Given the description of an element on the screen output the (x, y) to click on. 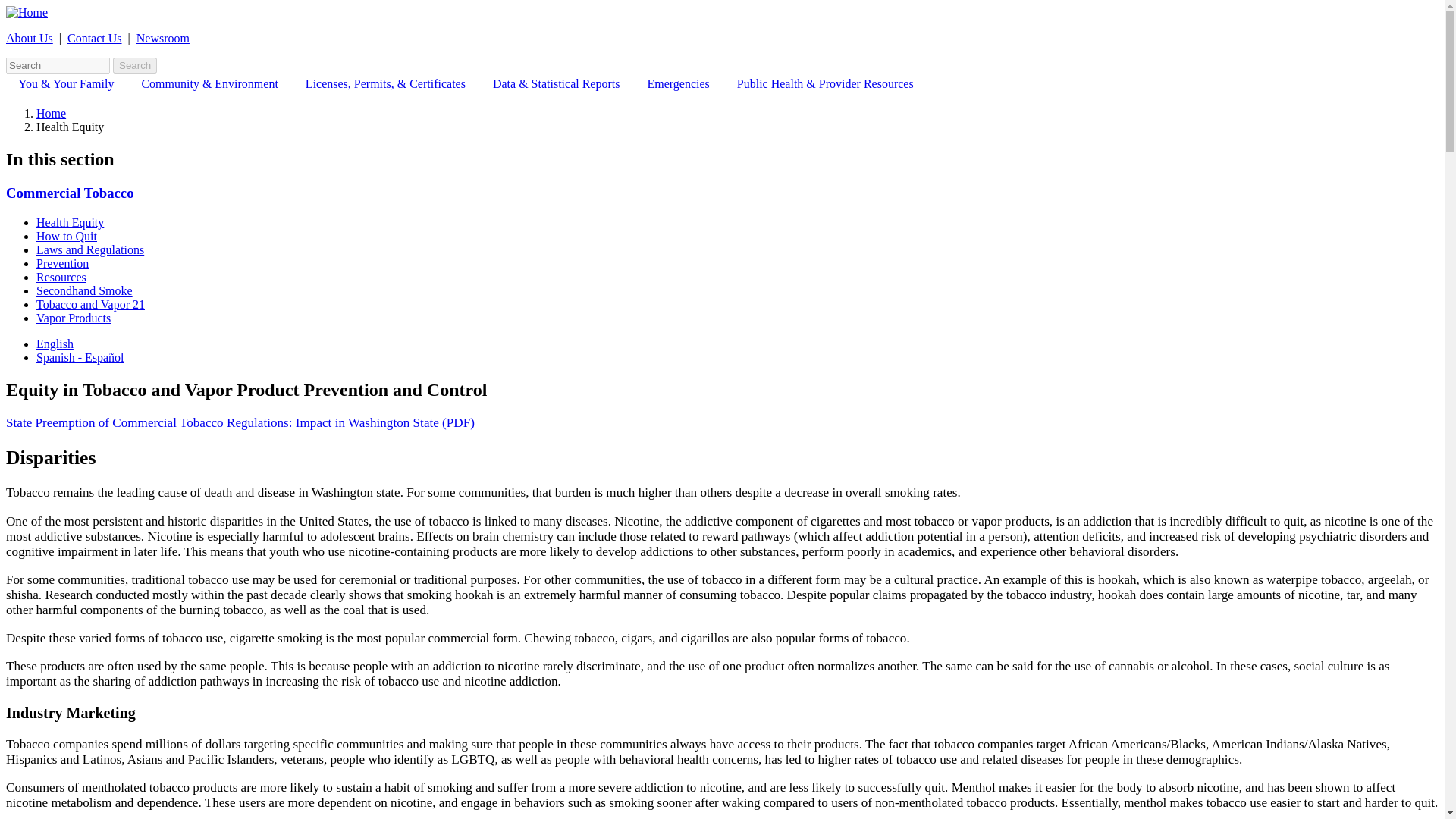
Search (135, 65)
Contact Us (94, 38)
About Us (28, 38)
Enter the terms you wish to search for. (57, 65)
Home (26, 11)
Newsroom (162, 38)
